Given the description of an element on the screen output the (x, y) to click on. 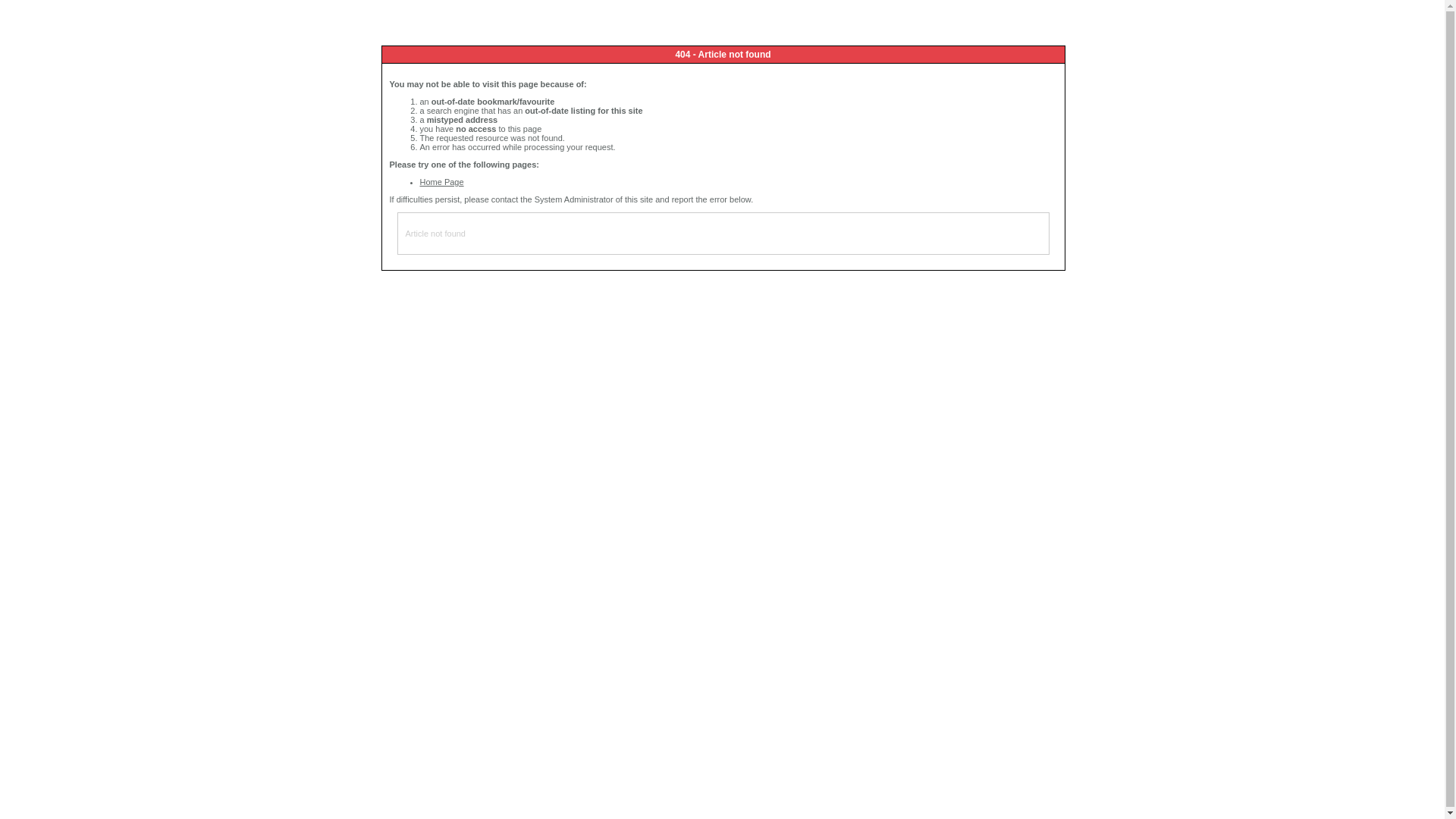
Home Page Element type: text (442, 181)
